Given the description of an element on the screen output the (x, y) to click on. 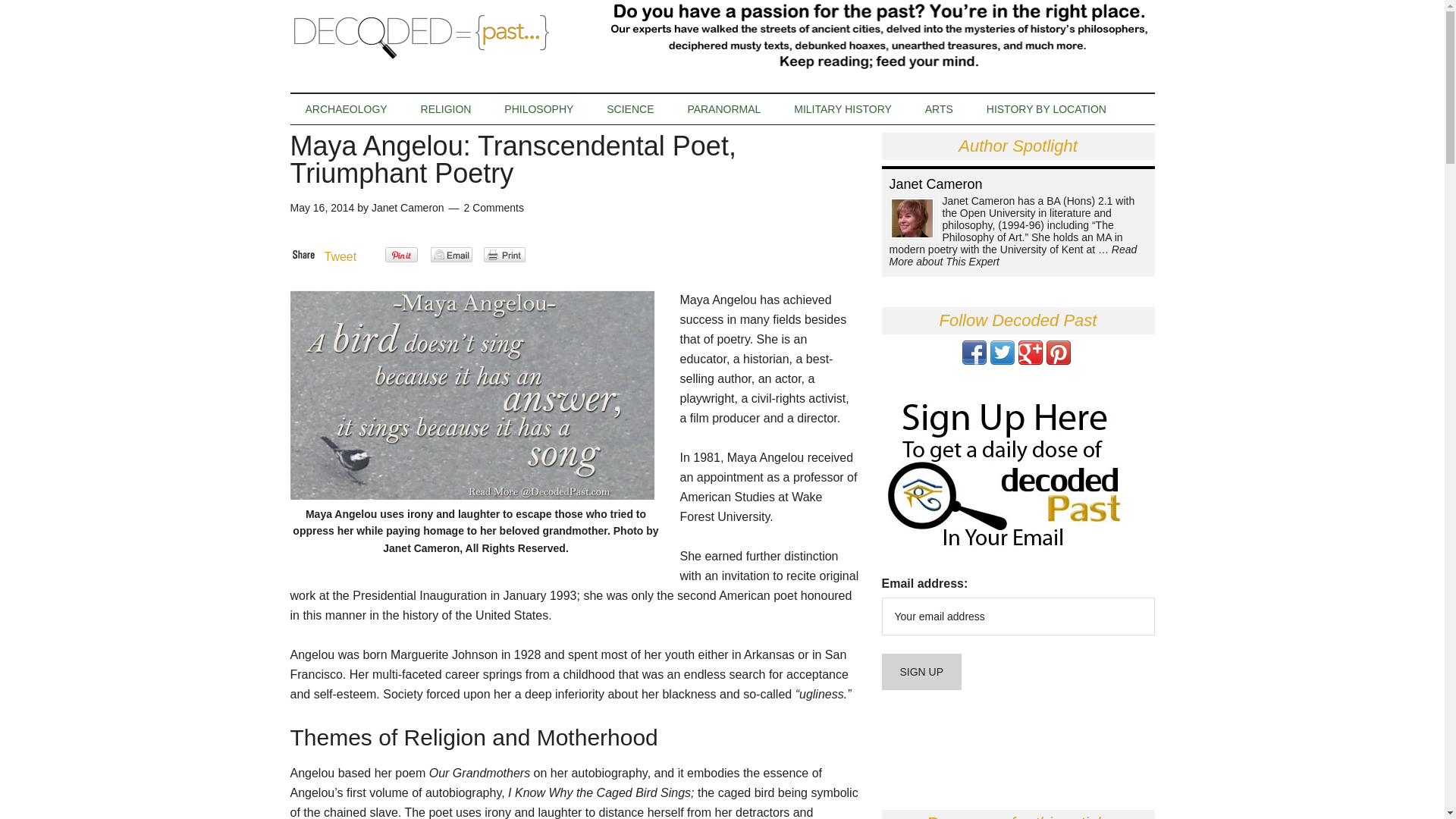
Decoded Past (433, 37)
2 Comments (494, 207)
Connect on Facebook (972, 359)
Print (504, 254)
Tweet (340, 256)
decodedscience on Pinterest (1058, 359)
Pin It (401, 254)
Read full Profile (1012, 255)
ARTS (939, 109)
Janet Cameron (407, 207)
ARCHAEOLOGY (345, 109)
RELIGION (446, 109)
Follow DecodedPast on Twitter (1002, 359)
MILITARY HISTORY (842, 109)
SCIENCE (629, 109)
